Given the description of an element on the screen output the (x, y) to click on. 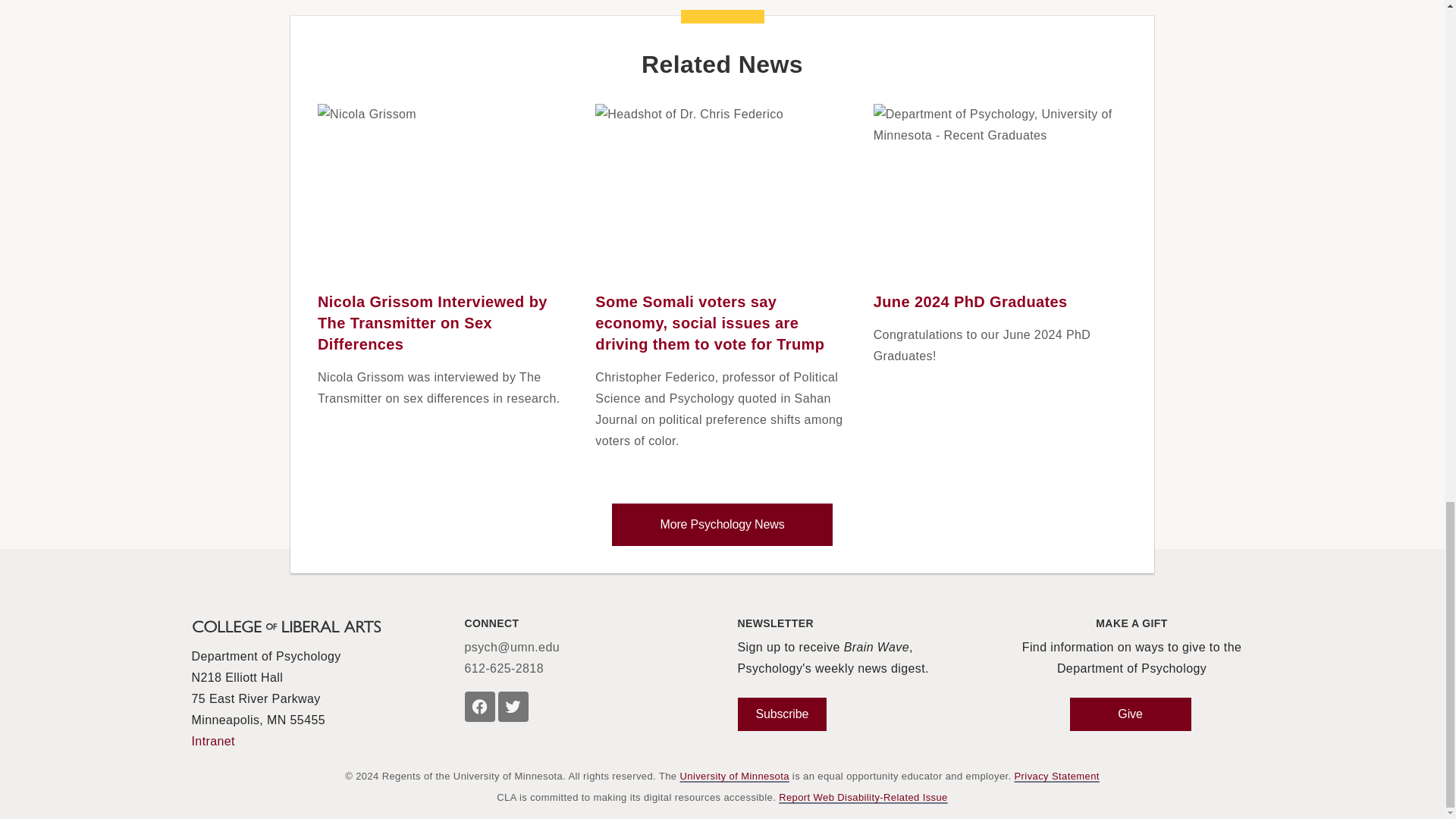
Subscribe (781, 714)
Give (1129, 714)
Report Web Disability-Related Issue (862, 797)
More Psychology News (721, 524)
612-625-2818 (503, 668)
University of Minnesota (734, 776)
June 2024 PhD Graduates (970, 301)
Privacy Statement (1056, 776)
Intranet (212, 741)
